Given the description of an element on the screen output the (x, y) to click on. 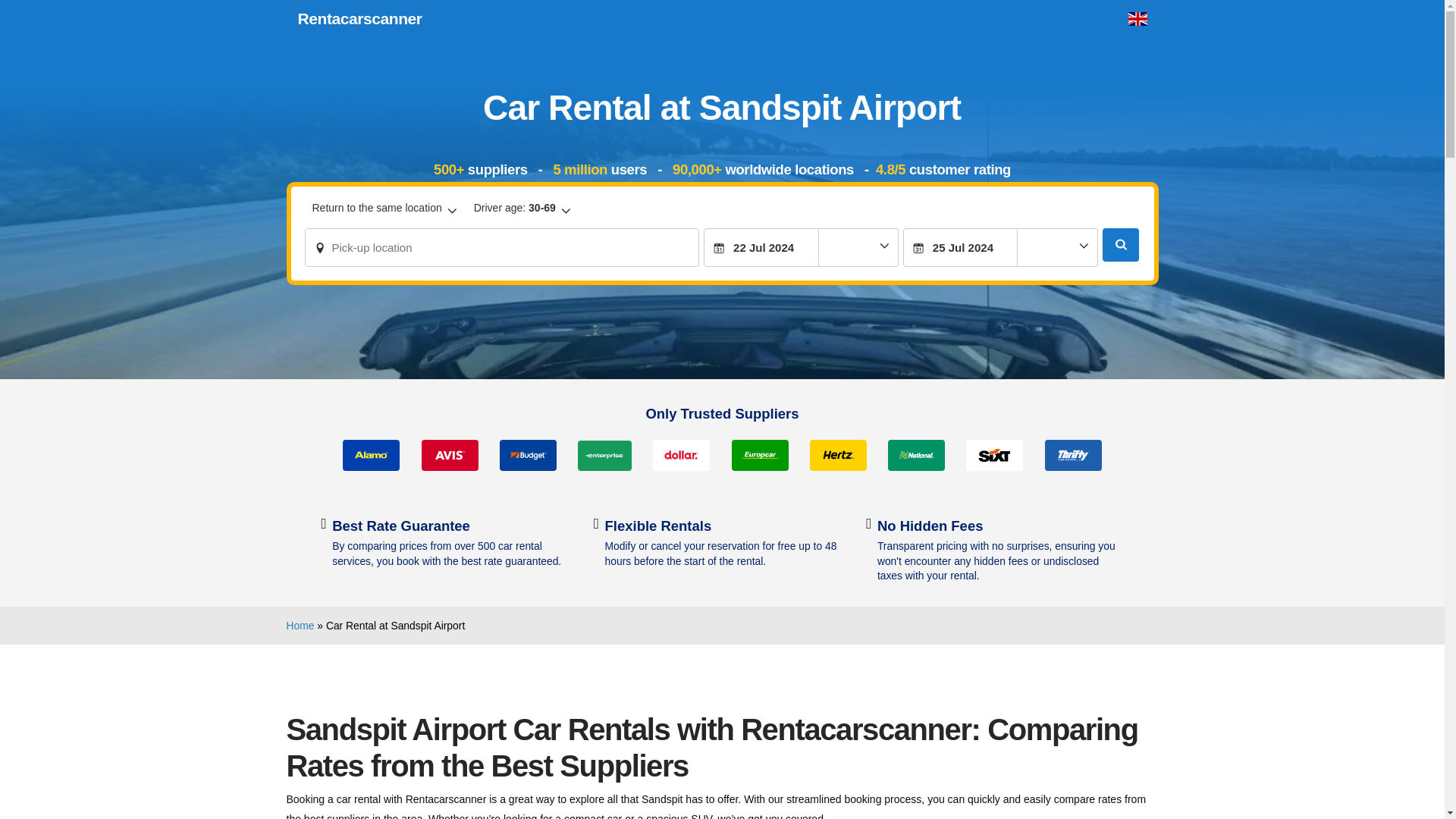
Rentacarscanner (359, 18)
25 Jul 2024 (959, 247)
22 Jul 2024 (760, 247)
